Given the description of an element on the screen output the (x, y) to click on. 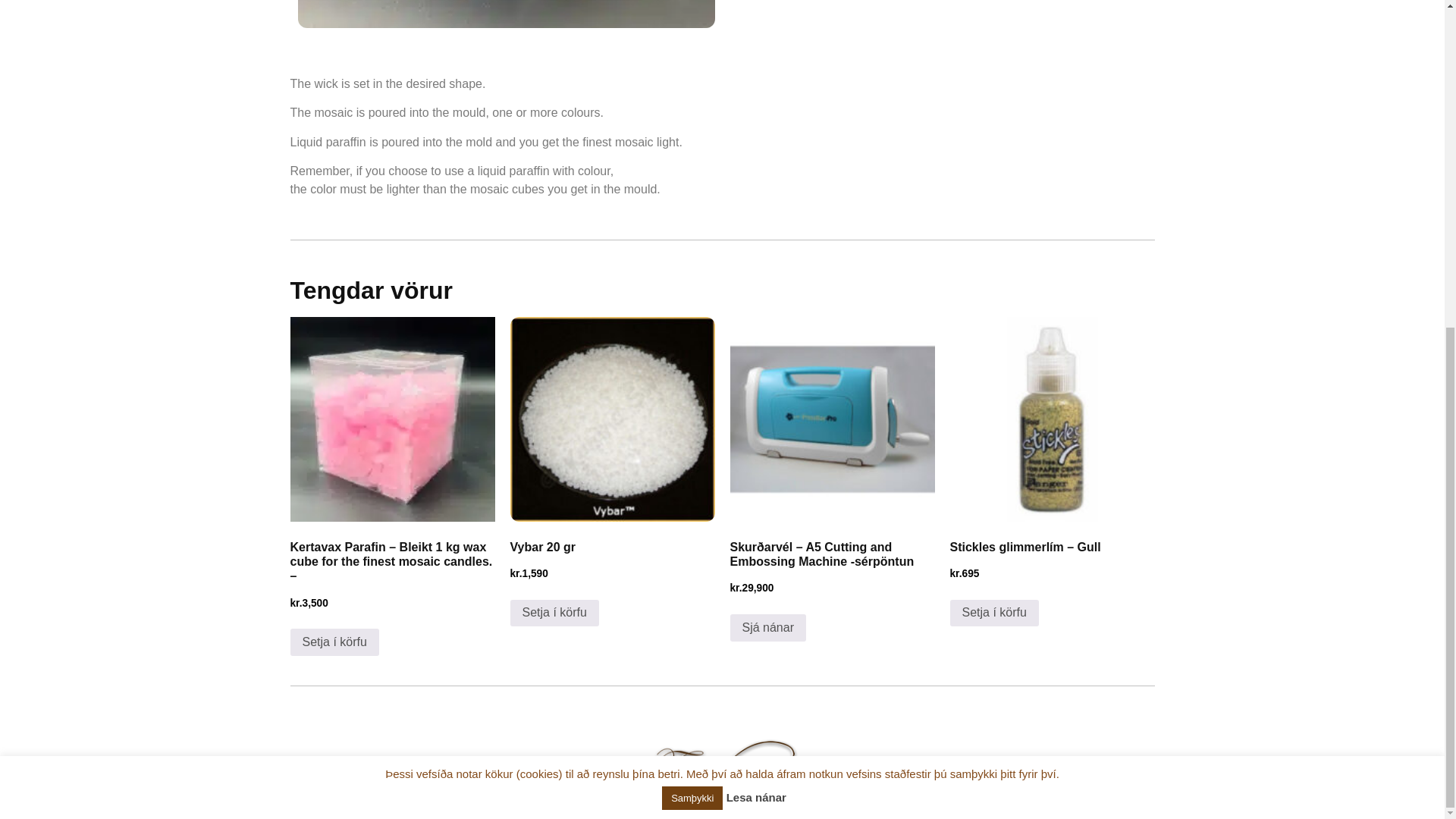
mosaik-lilla-scaled (505, 13)
